Given the description of an element on the screen output the (x, y) to click on. 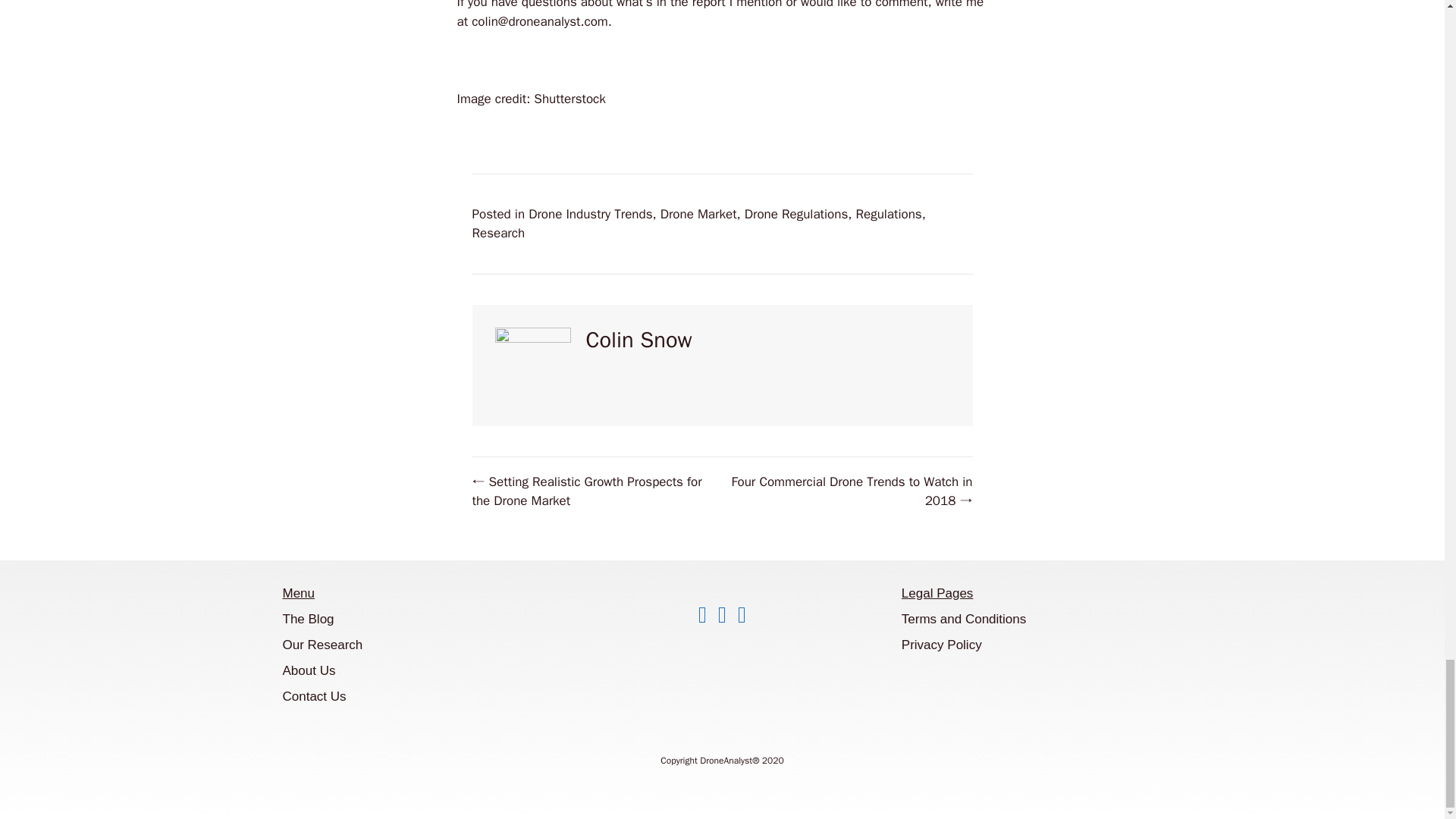
Research (497, 232)
the report (697, 4)
Drone Market (698, 213)
Drone Industry Trends (590, 213)
Regulations (888, 213)
The Blog (307, 618)
Privacy Policy (941, 644)
Contact Us (314, 696)
About Us (308, 670)
Our Research (322, 644)
Drone Regulations (795, 213)
